Given the description of an element on the screen output the (x, y) to click on. 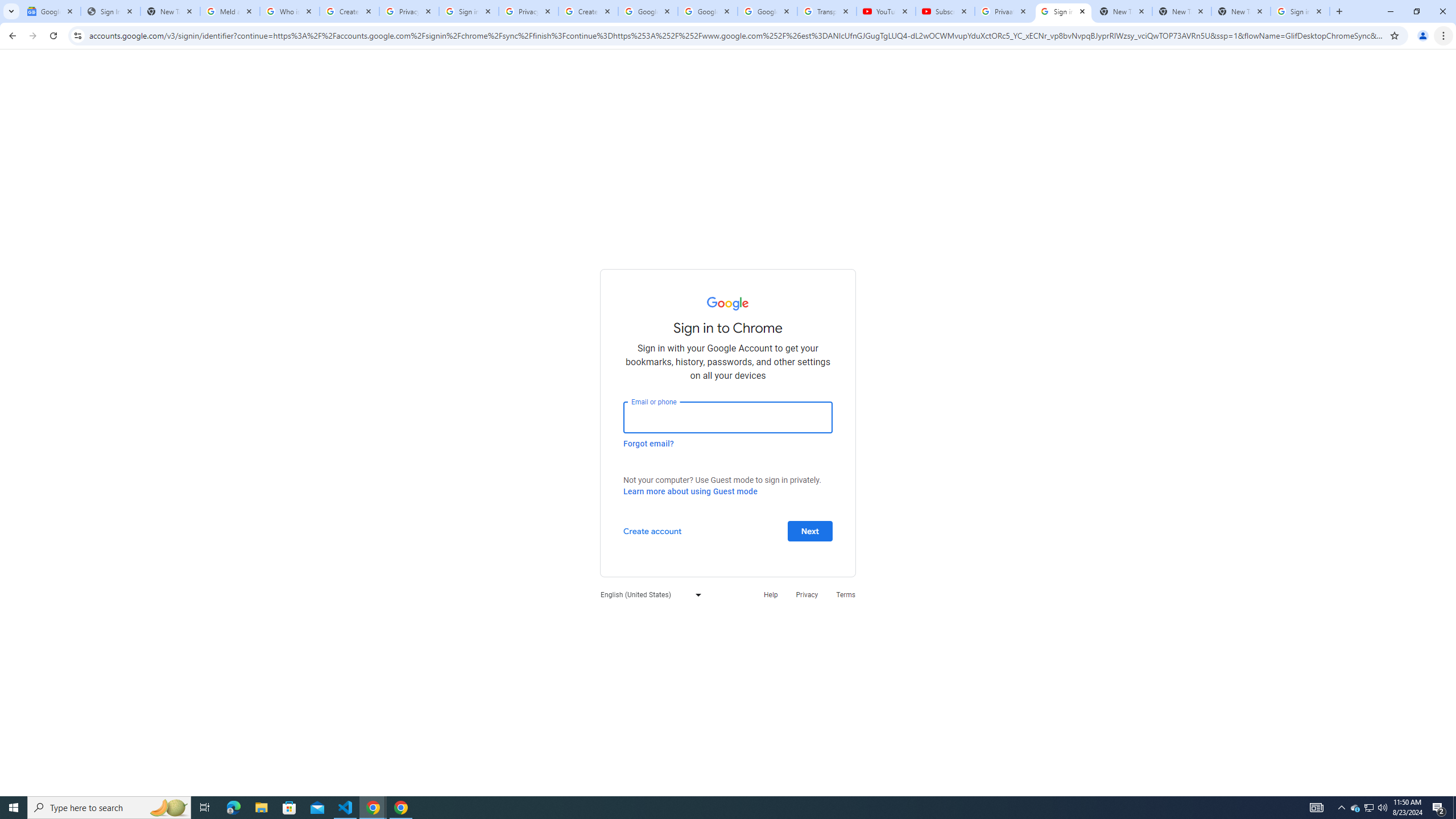
Google News (50, 11)
YouTube (885, 11)
Sign In - USA TODAY (110, 11)
Who is my administrator? - Google Account Help (289, 11)
